Given the description of an element on the screen output the (x, y) to click on. 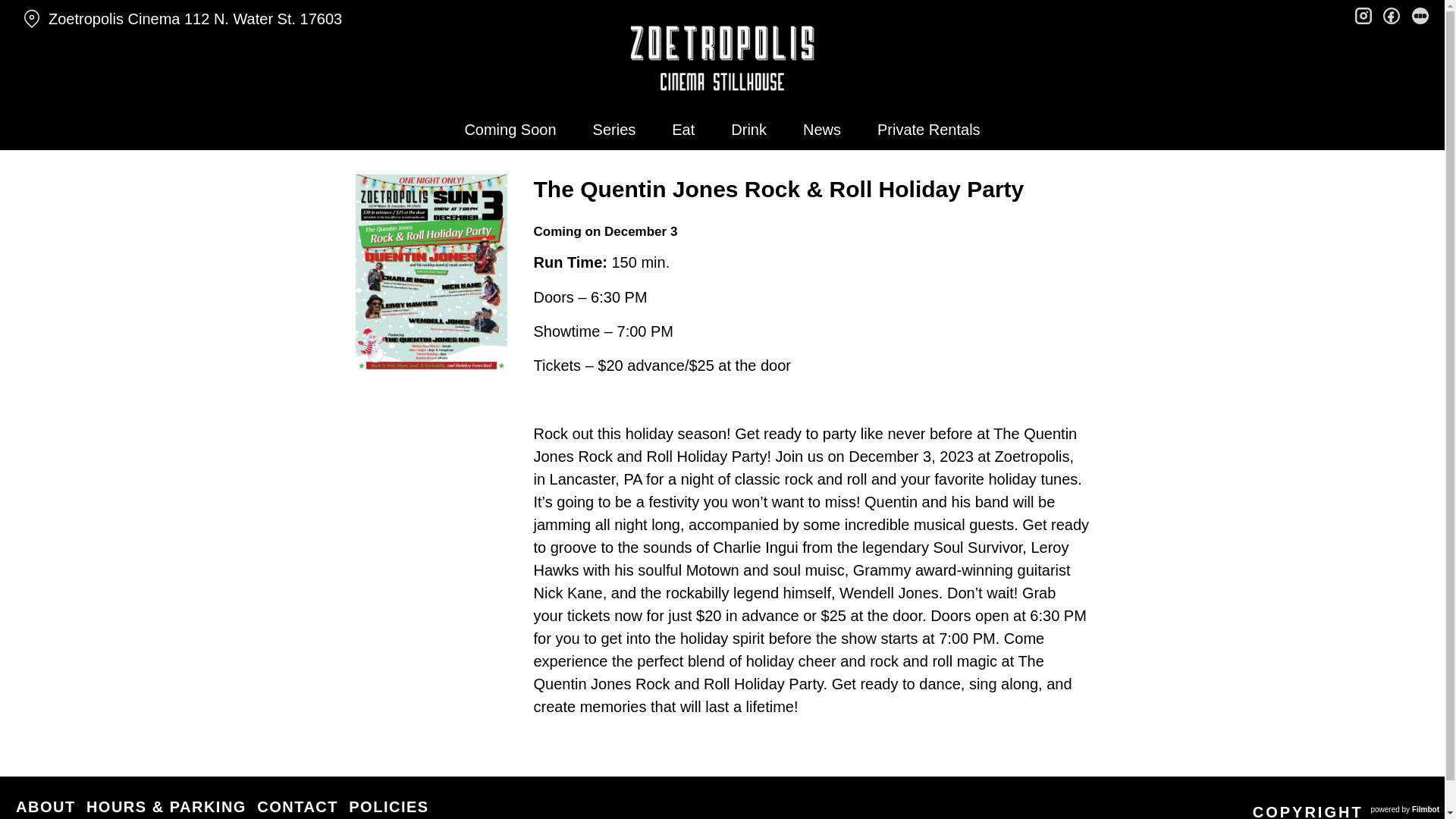
POLICIES (388, 806)
instagram (1363, 13)
Drink (748, 128)
letterboxd (1420, 13)
Private Rentals (928, 128)
CONTACT (297, 806)
Series (613, 128)
ABOUT (45, 806)
Coming Soon (509, 128)
News (821, 128)
